Given the description of an element on the screen output the (x, y) to click on. 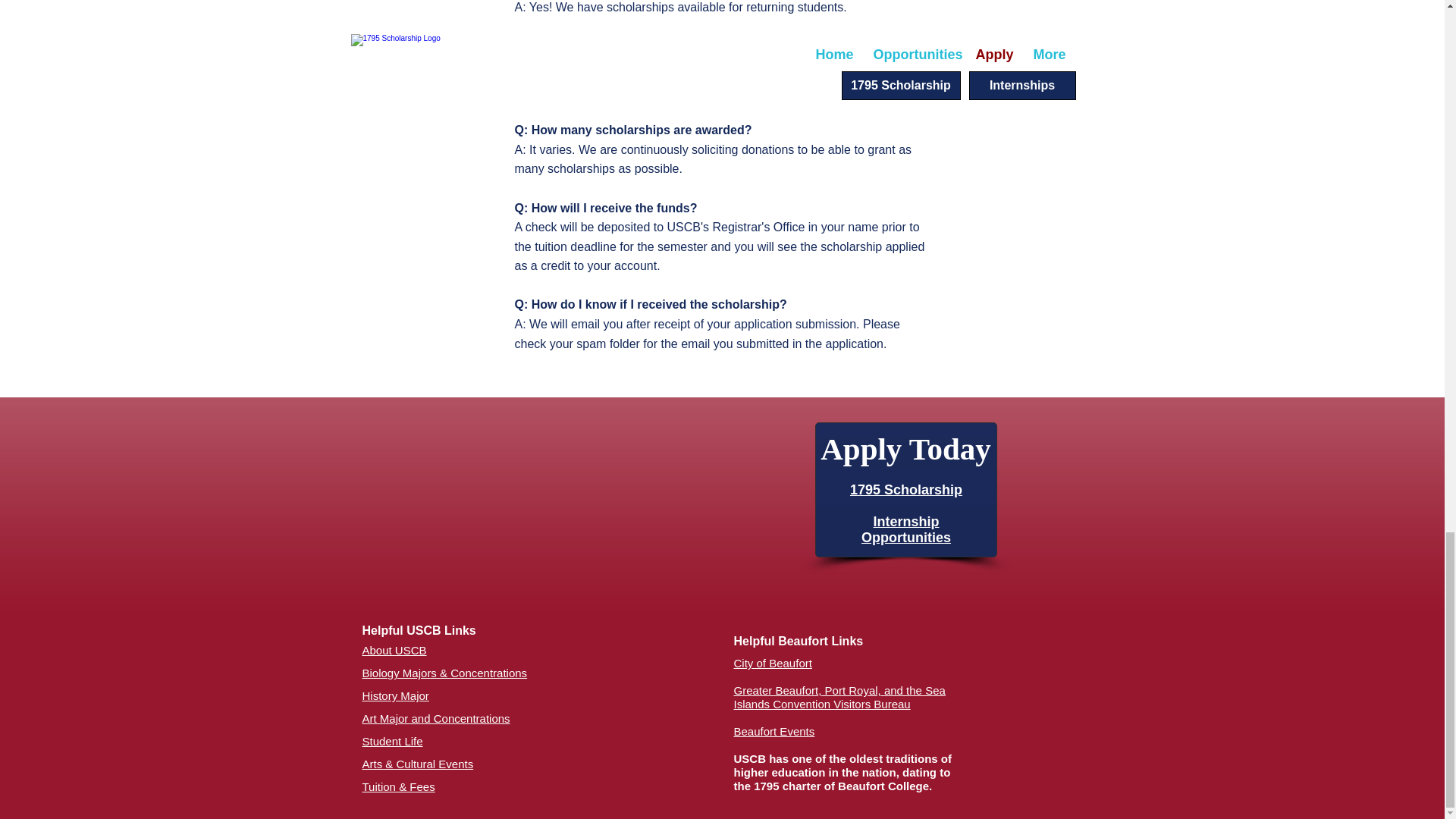
Student Life (392, 740)
1795 Scholarship (906, 489)
City of Beaufort (772, 662)
Beaufort Events (774, 730)
About USCB (394, 649)
Internship Opportunities (905, 529)
Art Major and Concentrations (436, 717)
History Major (395, 695)
